Given the description of an element on the screen output the (x, y) to click on. 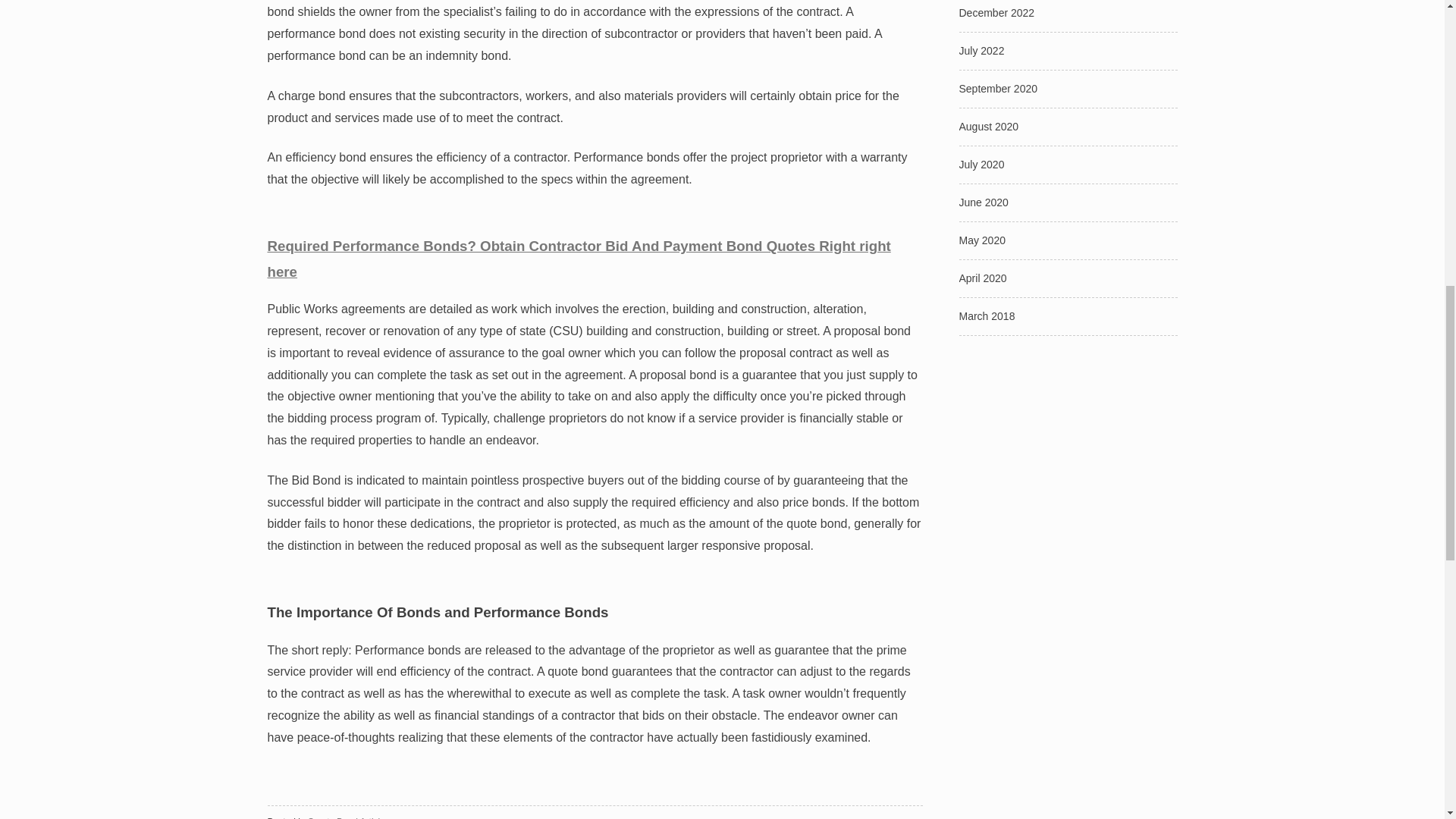
June 2020 (982, 202)
December 2022 (995, 12)
April 2020 (982, 277)
July 2020 (981, 164)
May 2020 (981, 240)
March 2018 (986, 316)
July 2022 (981, 50)
September 2020 (997, 88)
Surety Bond Articles (348, 817)
August 2020 (987, 126)
